Given the description of an element on the screen output the (x, y) to click on. 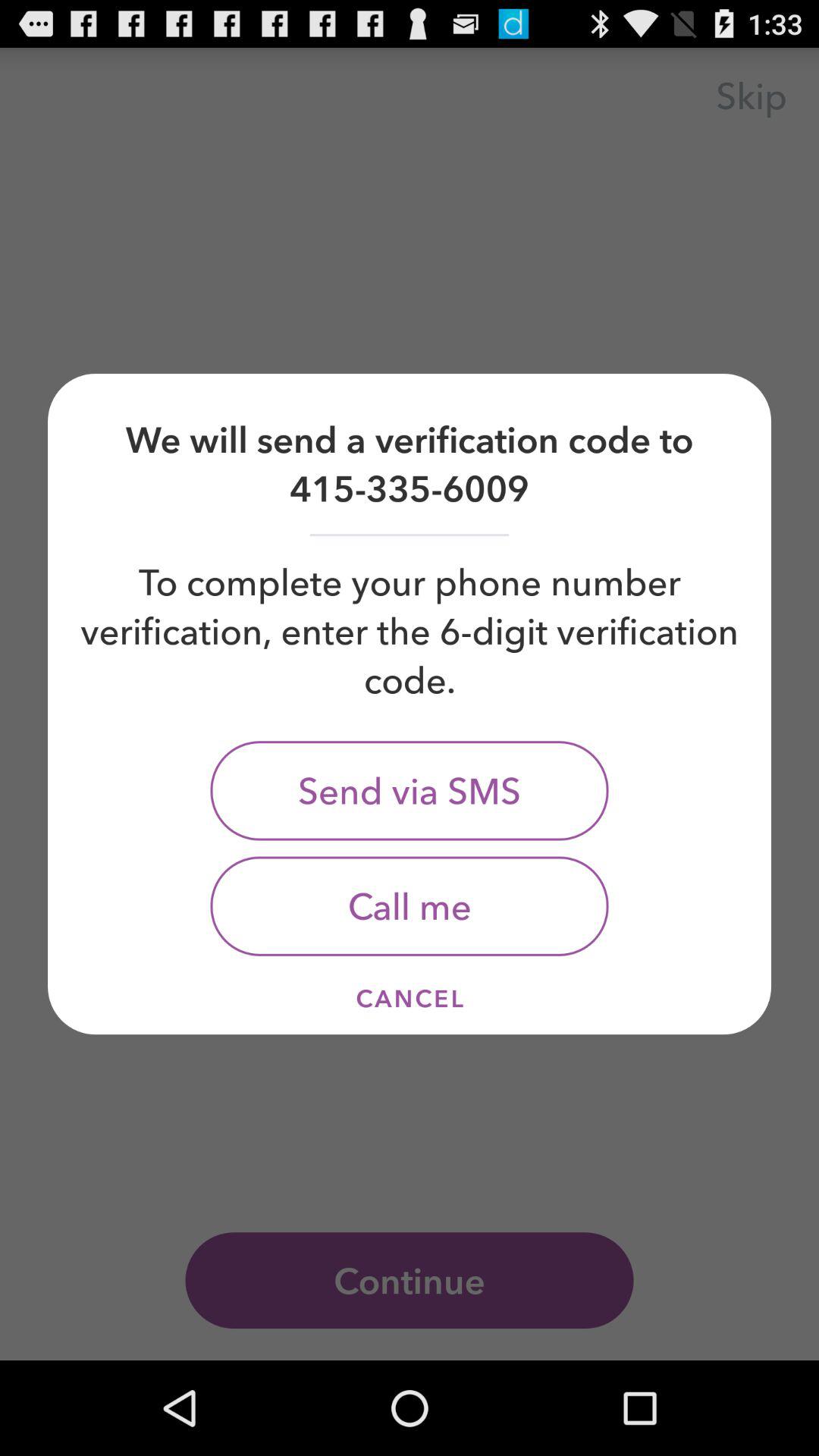
turn on the call me icon (409, 906)
